Given the description of an element on the screen output the (x, y) to click on. 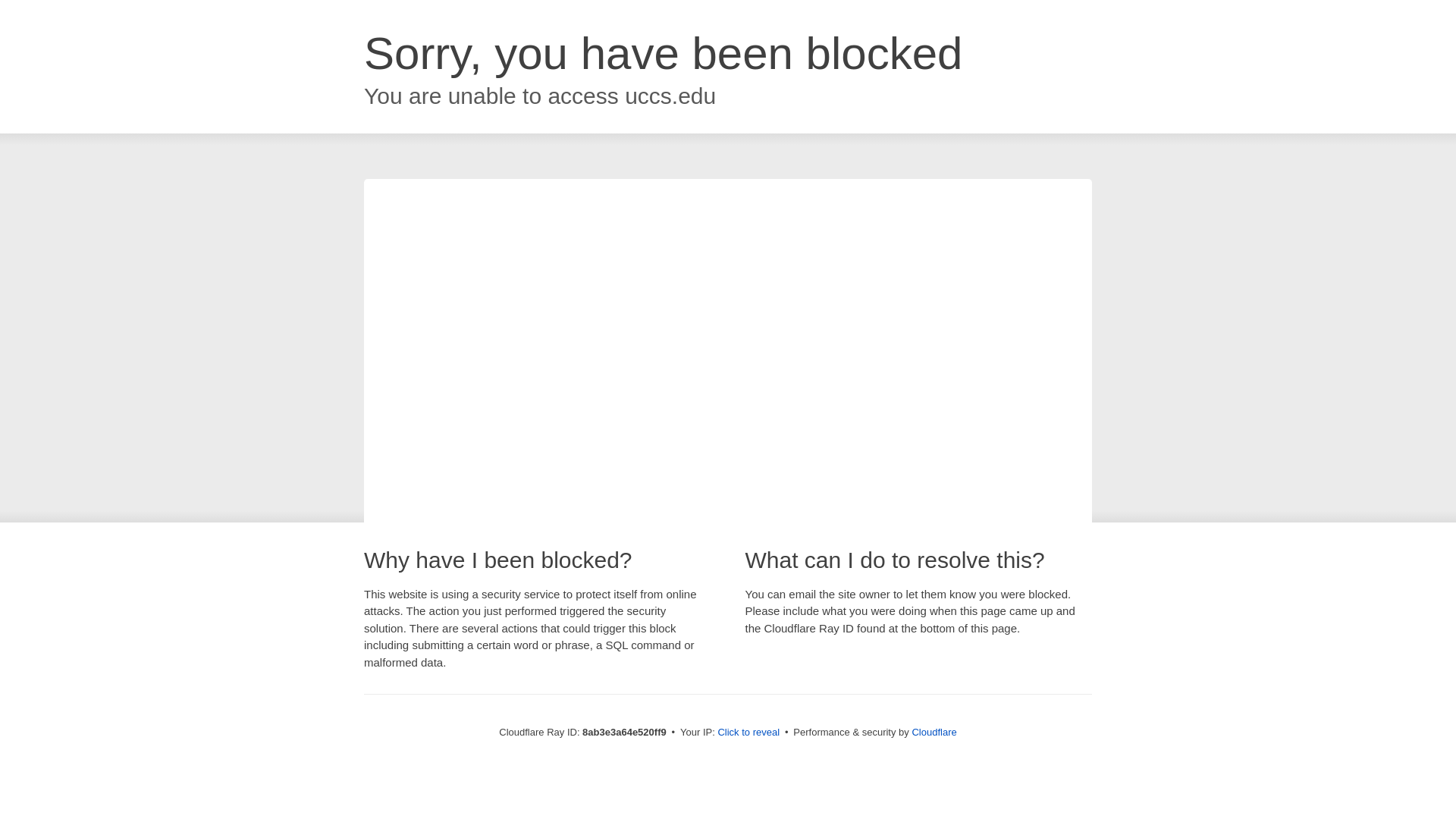
Cloudflare (933, 731)
Click to reveal (747, 732)
